Given the description of an element on the screen output the (x, y) to click on. 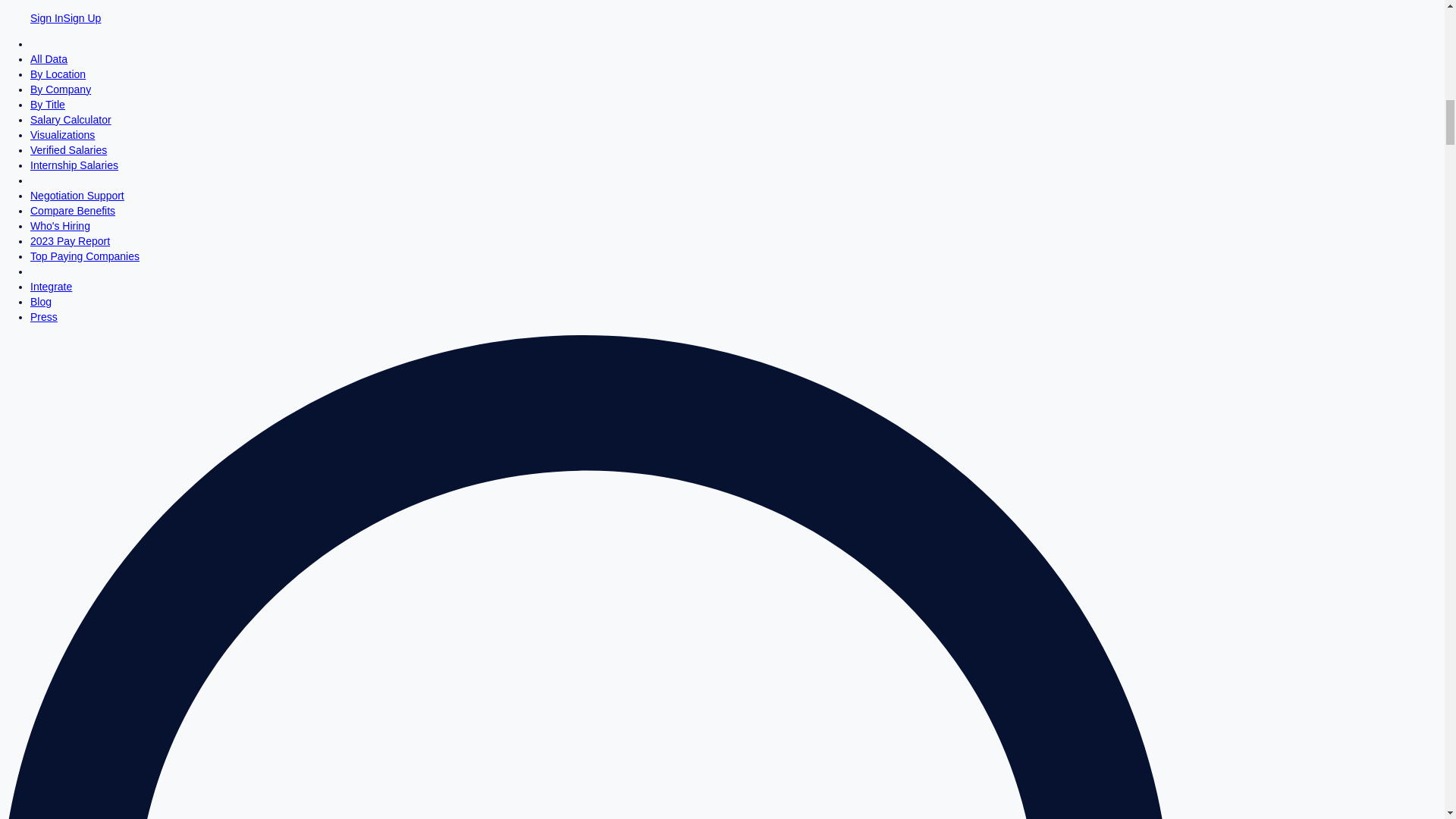
By Title (47, 104)
Visualizations (62, 134)
Salary Calculator (71, 119)
Verified Salaries (68, 150)
Integrate (50, 286)
By Location (57, 73)
Press (44, 316)
2023 Pay Report (70, 241)
Internship Salaries (73, 164)
All Data (48, 59)
